Given the description of an element on the screen output the (x, y) to click on. 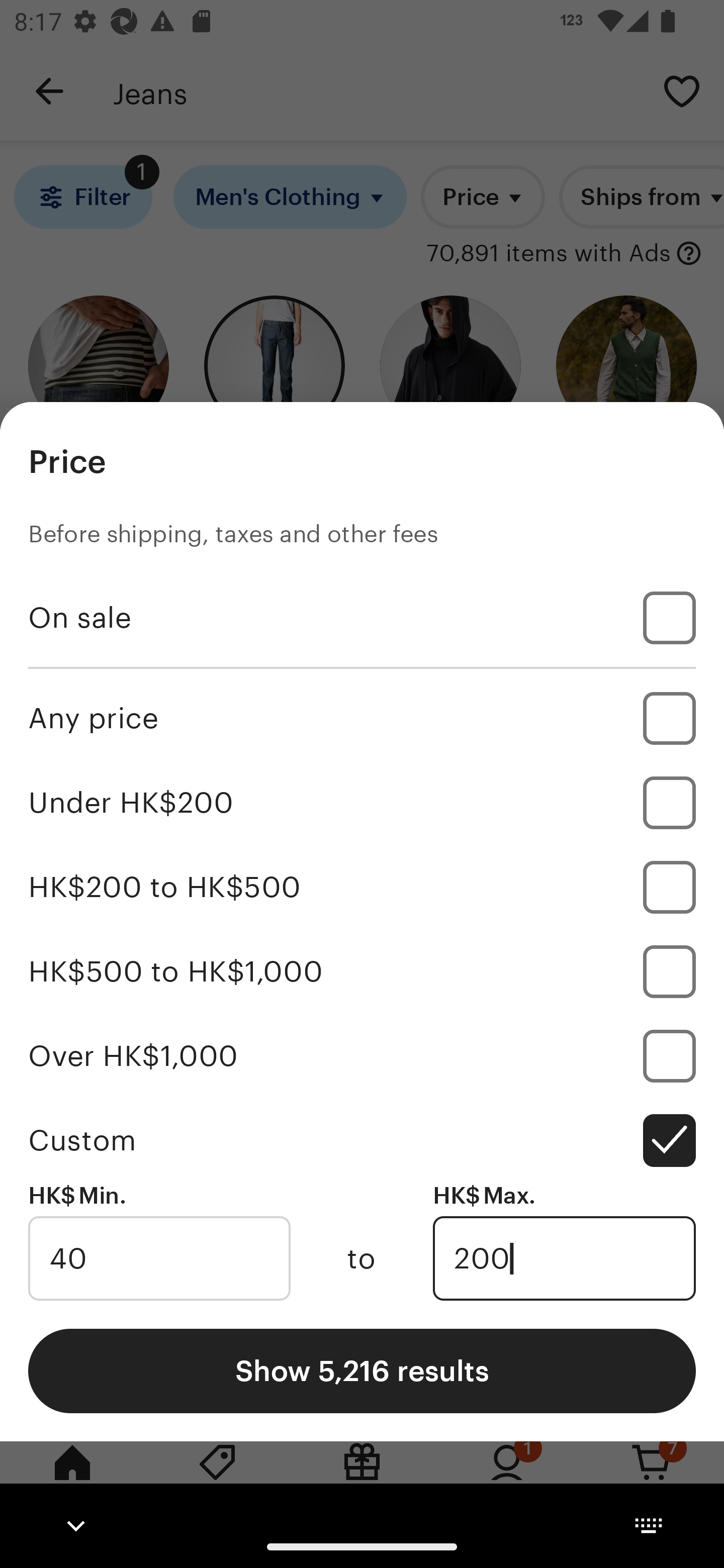
On sale (362, 617)
Any price (362, 717)
Under HK$200 (362, 802)
HK$200 to HK$500 (362, 887)
HK$500 to HK$1,000 (362, 970)
Over HK$1,000 (362, 1054)
Custom (362, 1139)
40 (159, 1257)
200 (563, 1257)
Show 5,216 results (361, 1370)
